Given the description of an element on the screen output the (x, y) to click on. 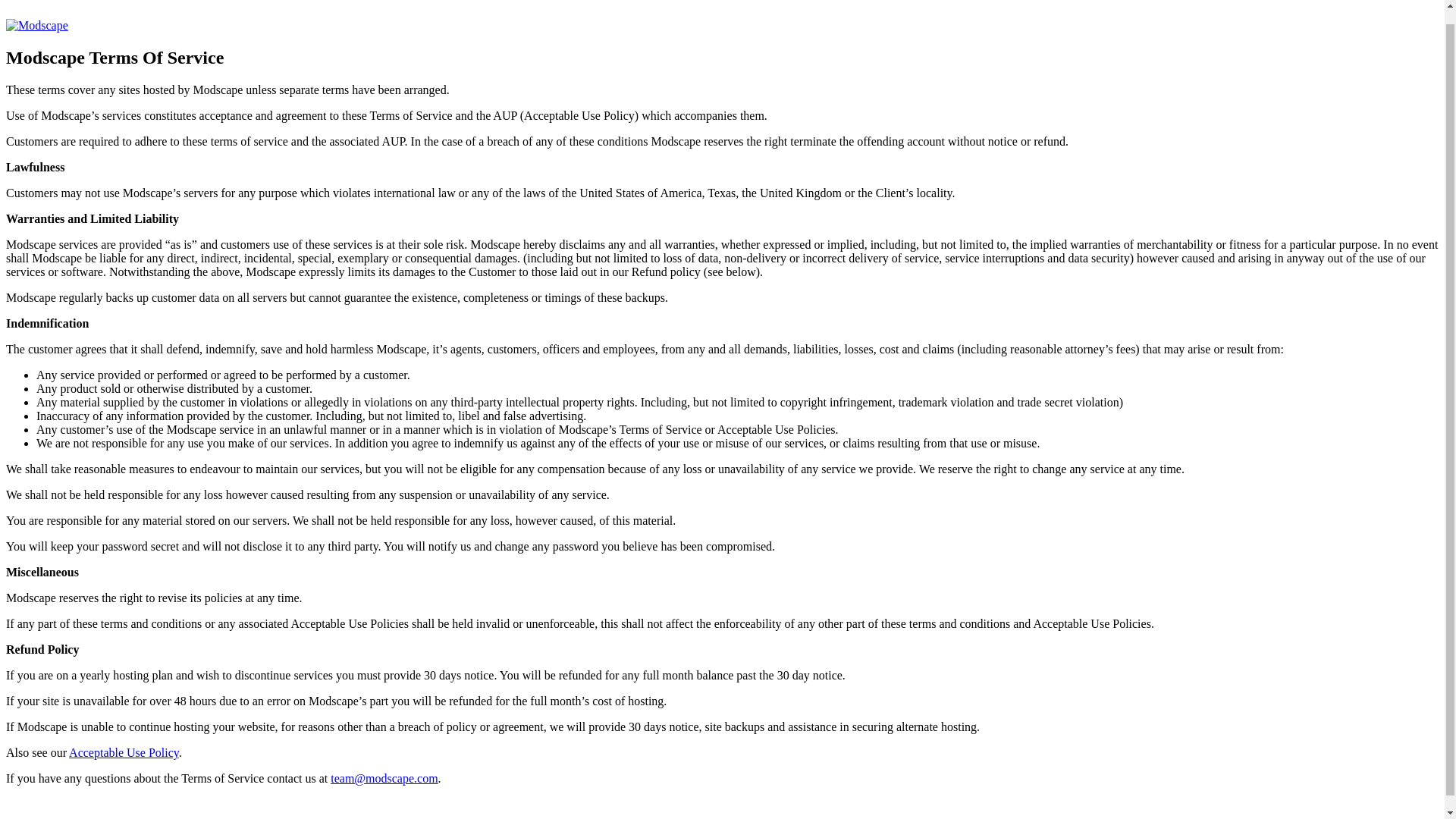
Acceptable Use Policy (123, 752)
